Given the description of an element on the screen output the (x, y) to click on. 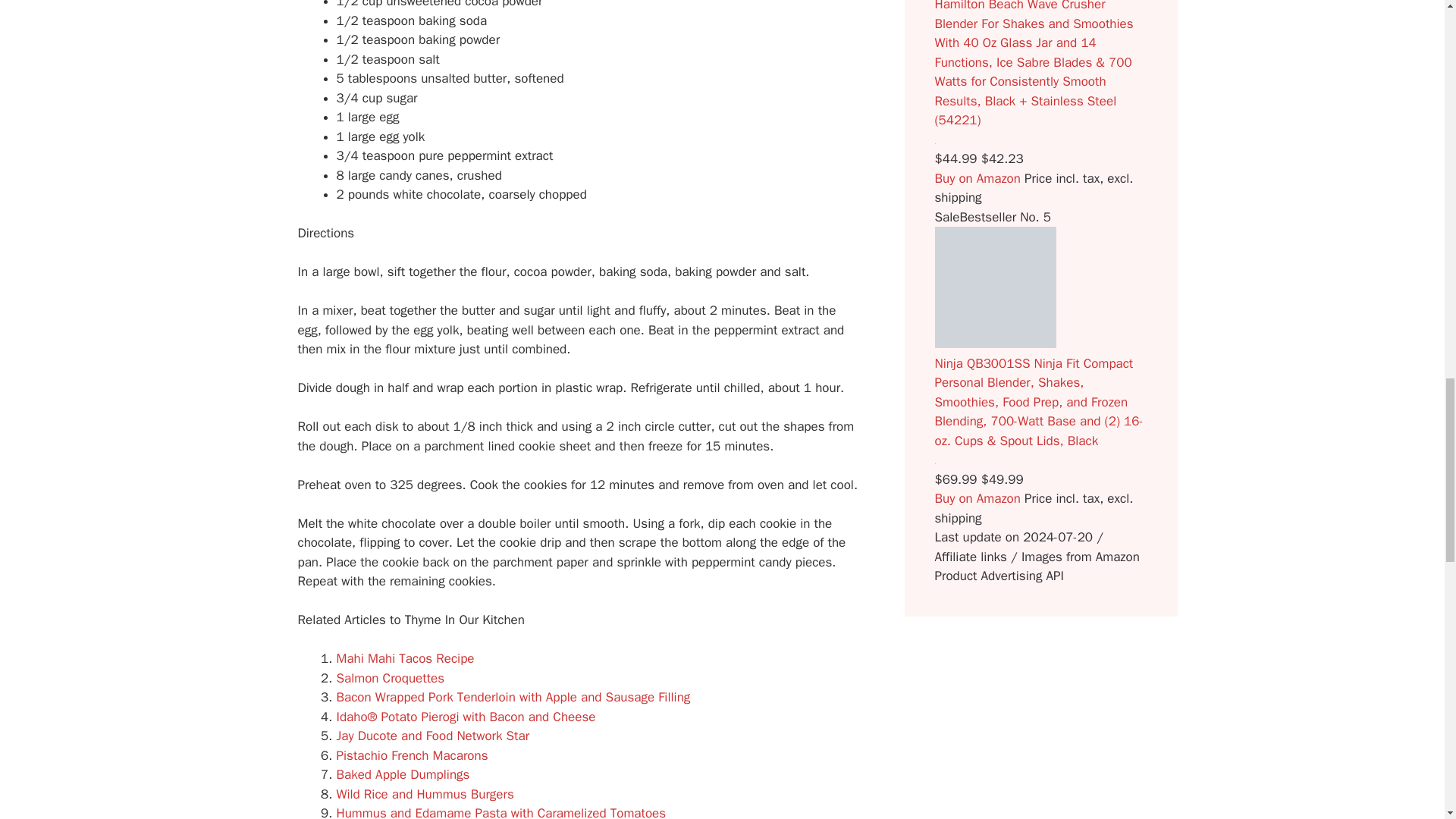
Salmon Croquettes (390, 678)
Mahi Mahi Tacos Recipe (405, 658)
Baked Apple Dumplings (403, 774)
Bacon Wrapped Pork Tenderloin with Apple and Sausage Filling (513, 697)
Wild Rice and Hummus Burgers (424, 794)
Pistachio French Macarons (411, 755)
Hummus and Edamame Pasta with Caramelized Tomatoes (501, 812)
Jay Ducote and Food Network Star (432, 735)
